Given the description of an element on the screen output the (x, y) to click on. 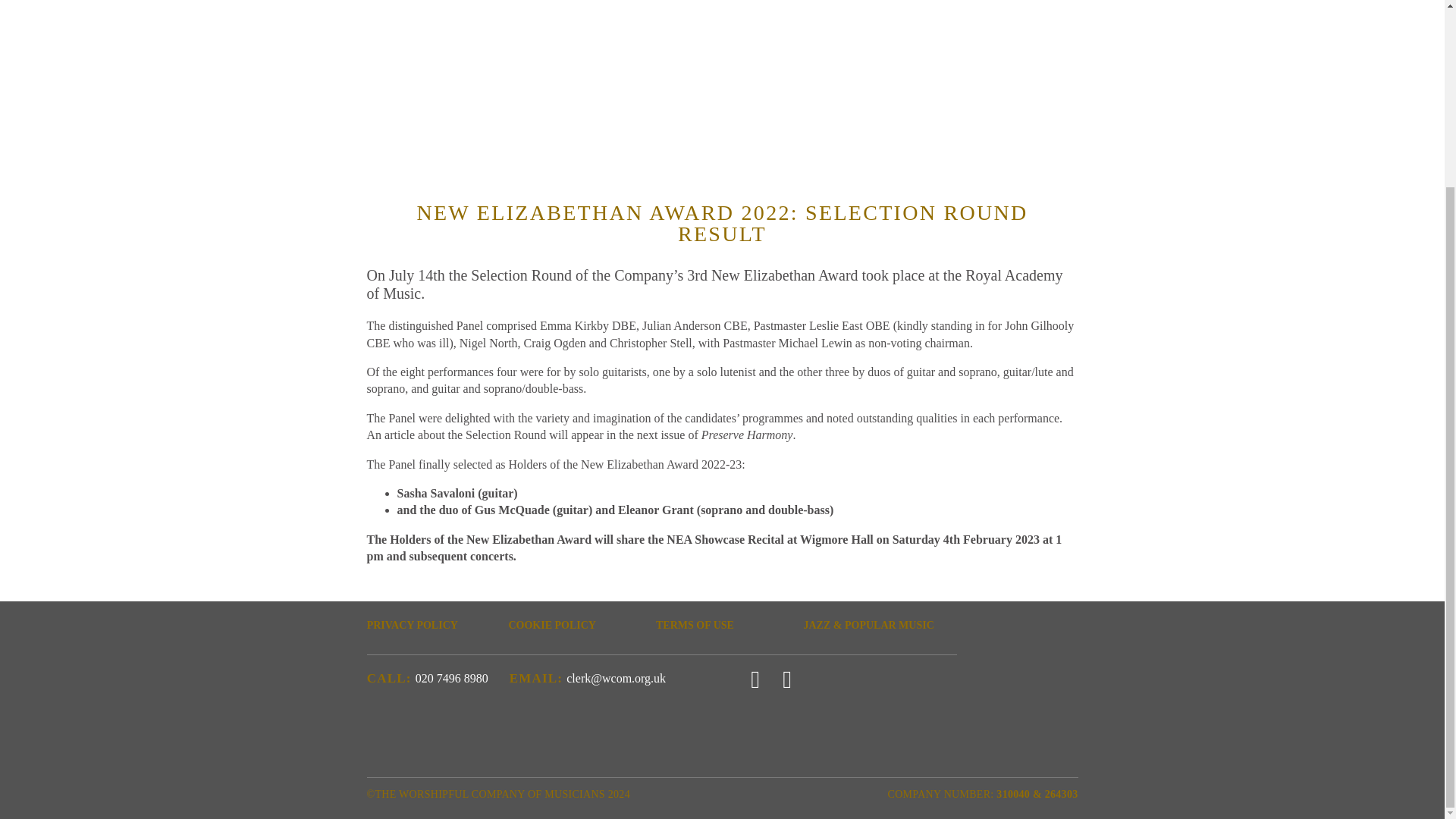
PRIVACY POLICY (434, 625)
COOKIE POLICY (575, 625)
